Given the description of an element on the screen output the (x, y) to click on. 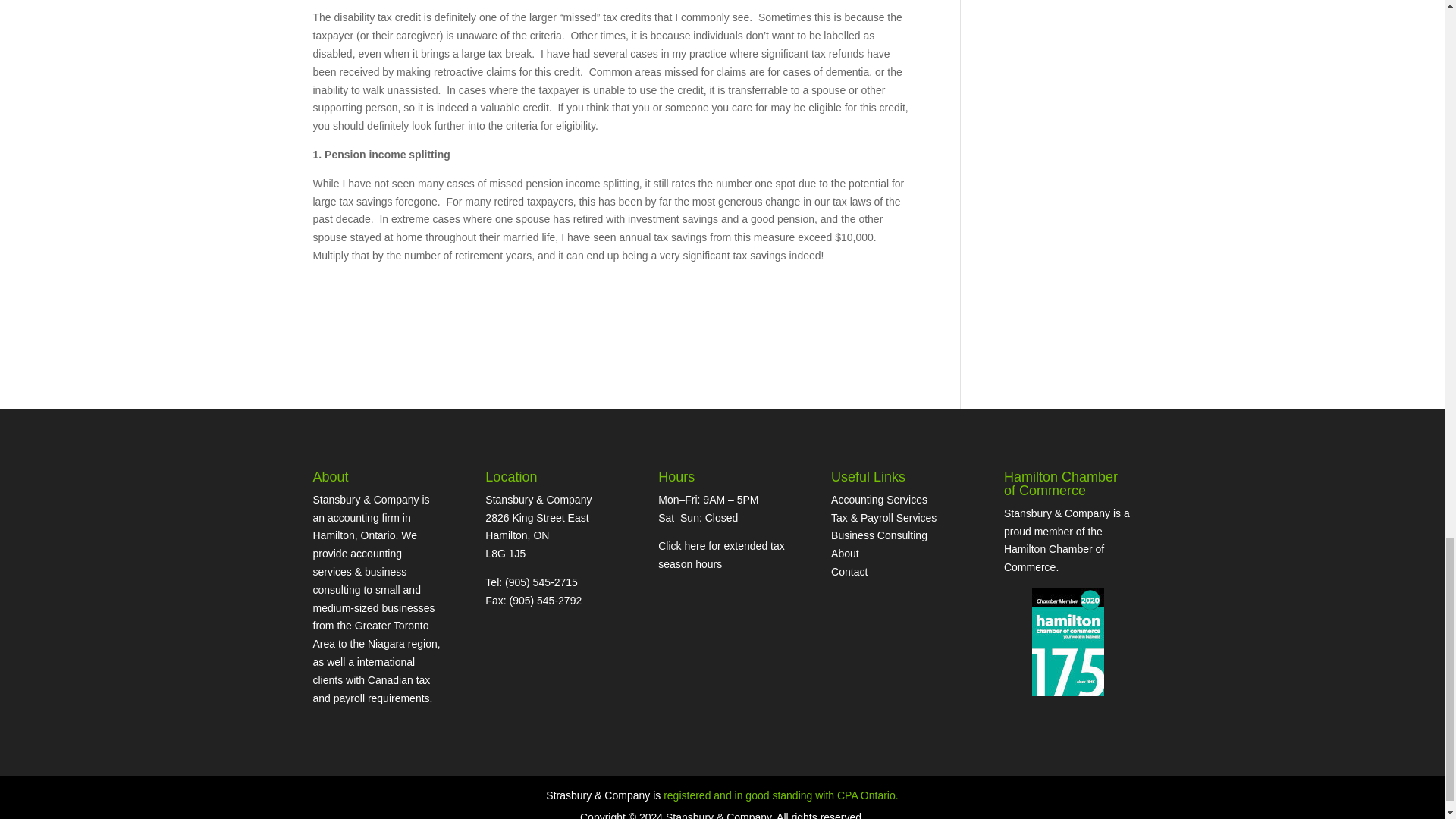
Click here for extended tax season hours (721, 554)
Accounting Services (879, 499)
